Given the description of an element on the screen output the (x, y) to click on. 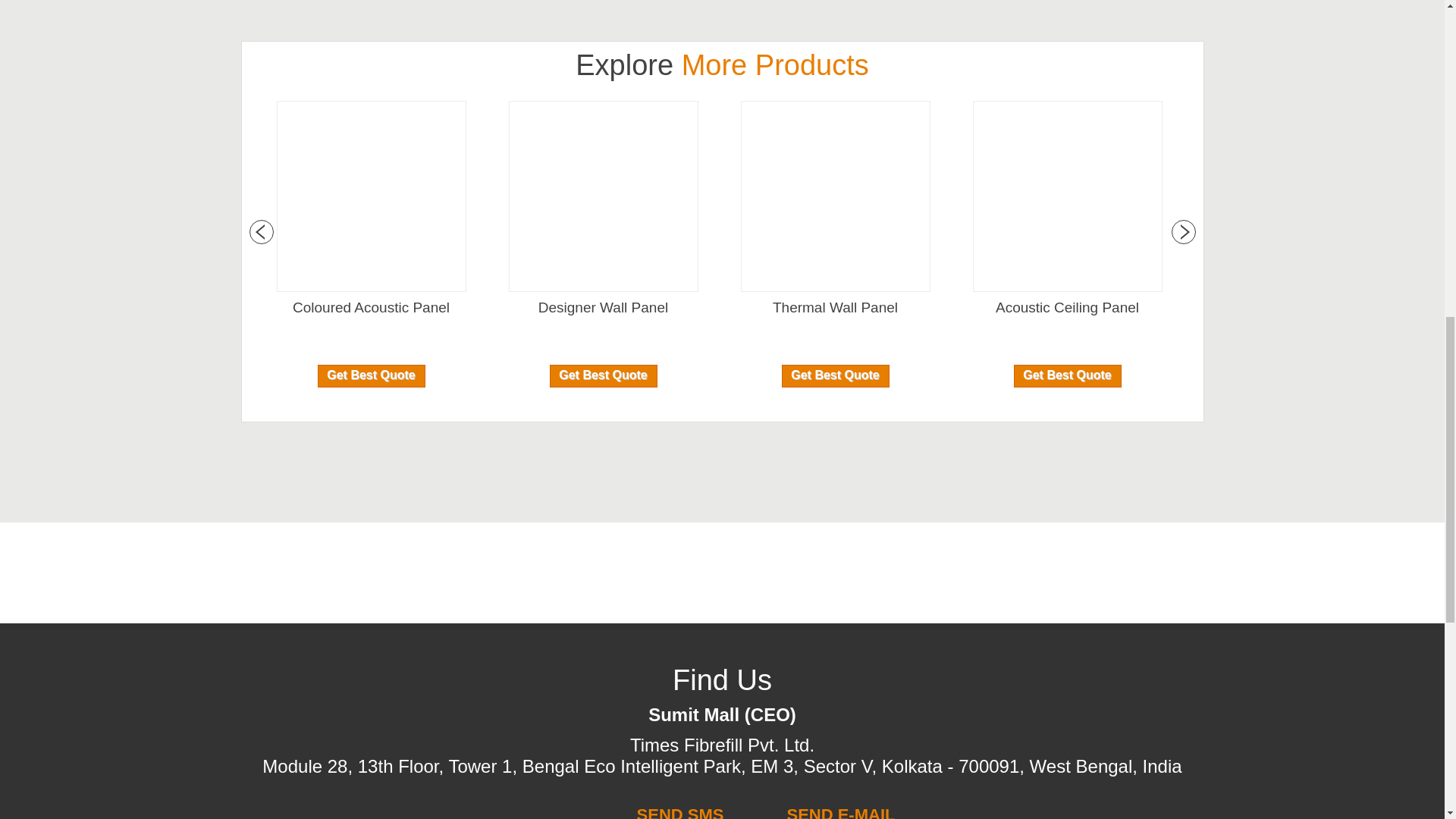
Acoustic Ceiling Panel (1066, 307)
Coloured Acoustic Panel (370, 307)
Thermal Wall Panel (834, 307)
Designer Wall Panel (602, 307)
